Given the description of an element on the screen output the (x, y) to click on. 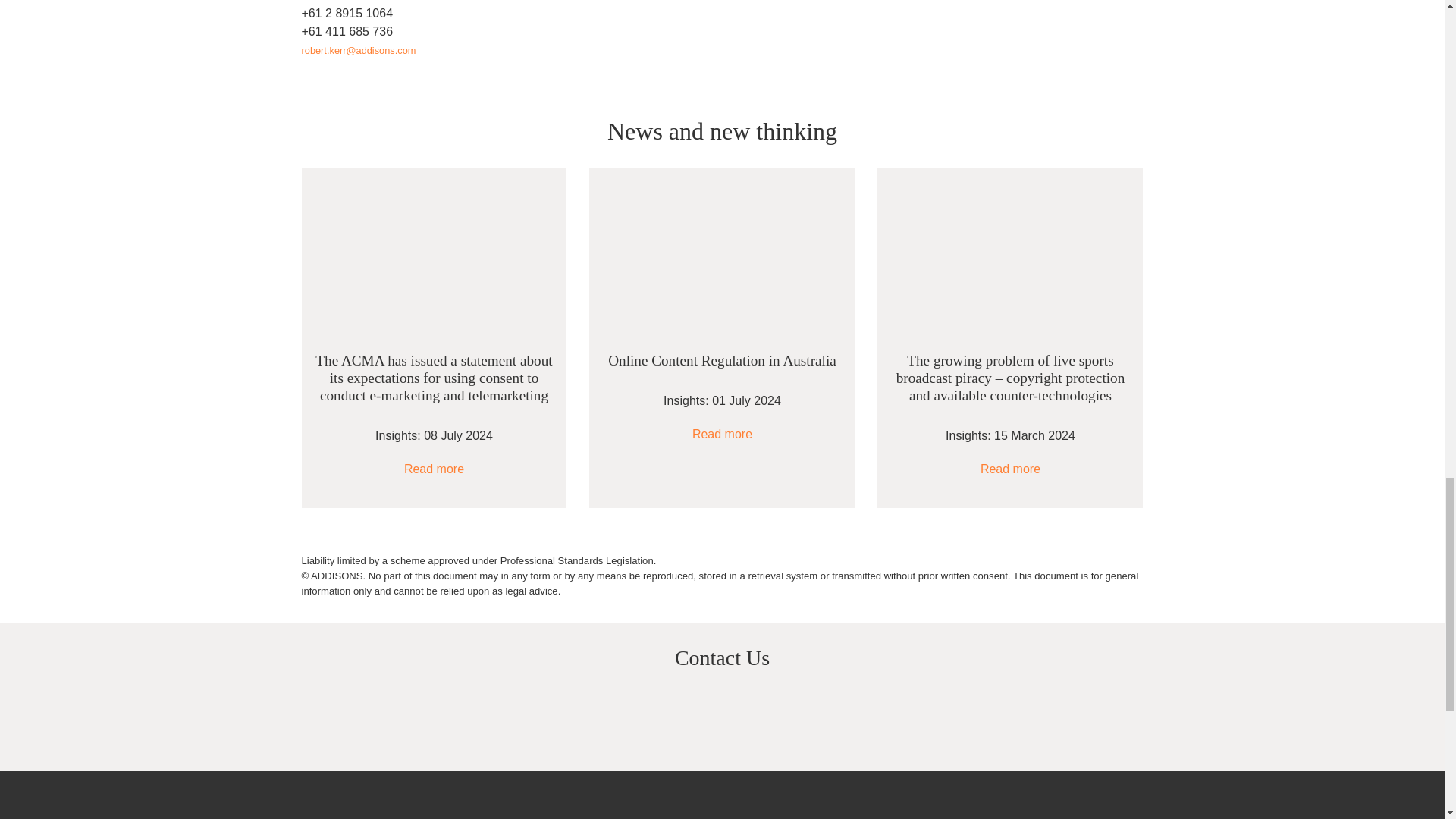
Read more (1010, 469)
Online Content Regulation in Australia (721, 360)
Read more (721, 434)
Read more (433, 469)
